Given the description of an element on the screen output the (x, y) to click on. 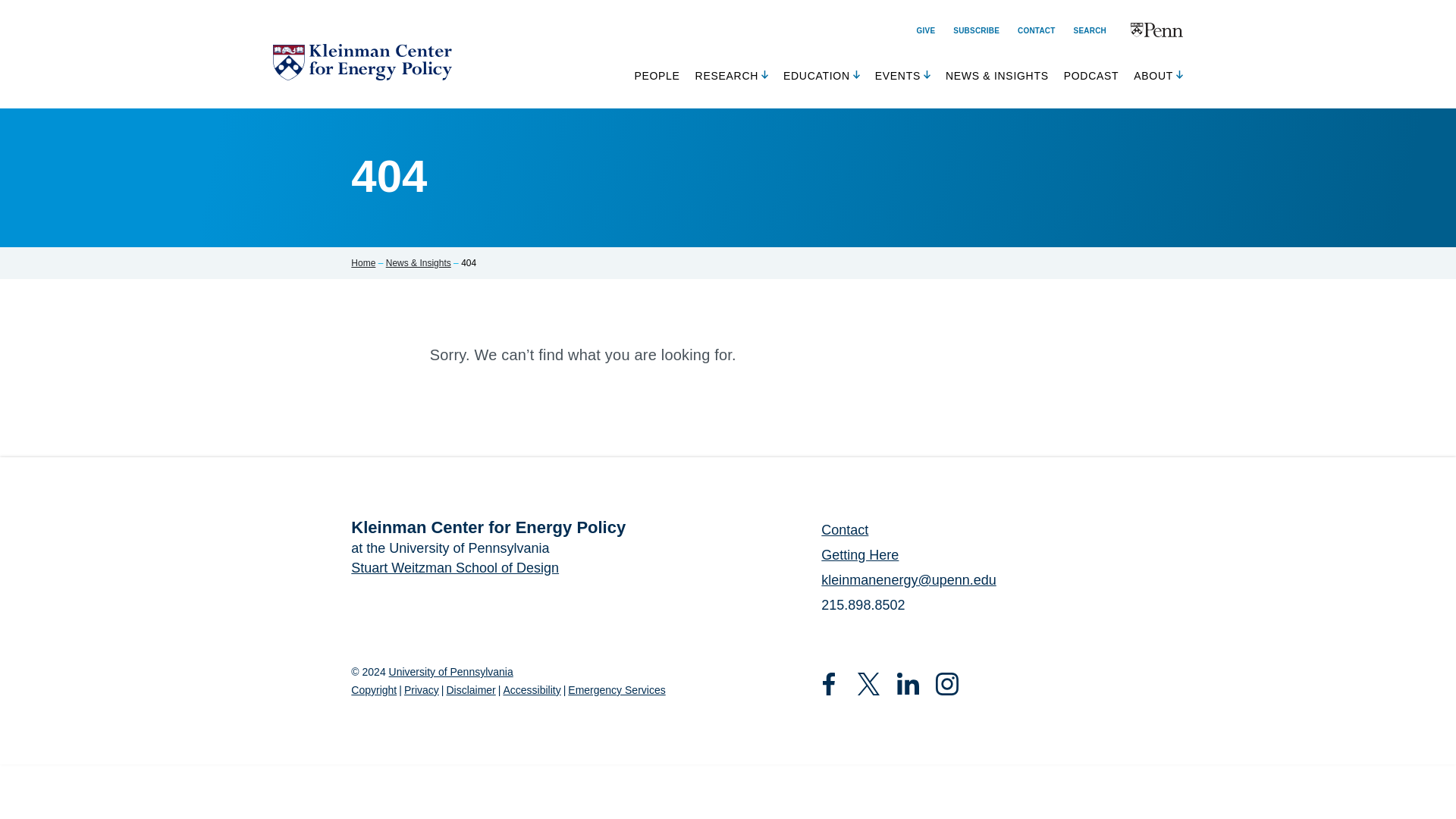
UNIVERSITY OF PENNSYLVANIA (1156, 29)
EDUCATION (816, 78)
Kleinman Center for Energy Policy (362, 62)
CONTACT (1036, 31)
SUBSCRIBE (975, 31)
PEOPLE (656, 78)
SEARCH (1090, 29)
GIVE (926, 31)
PODCAST (1091, 78)
